Given the description of an element on the screen output the (x, y) to click on. 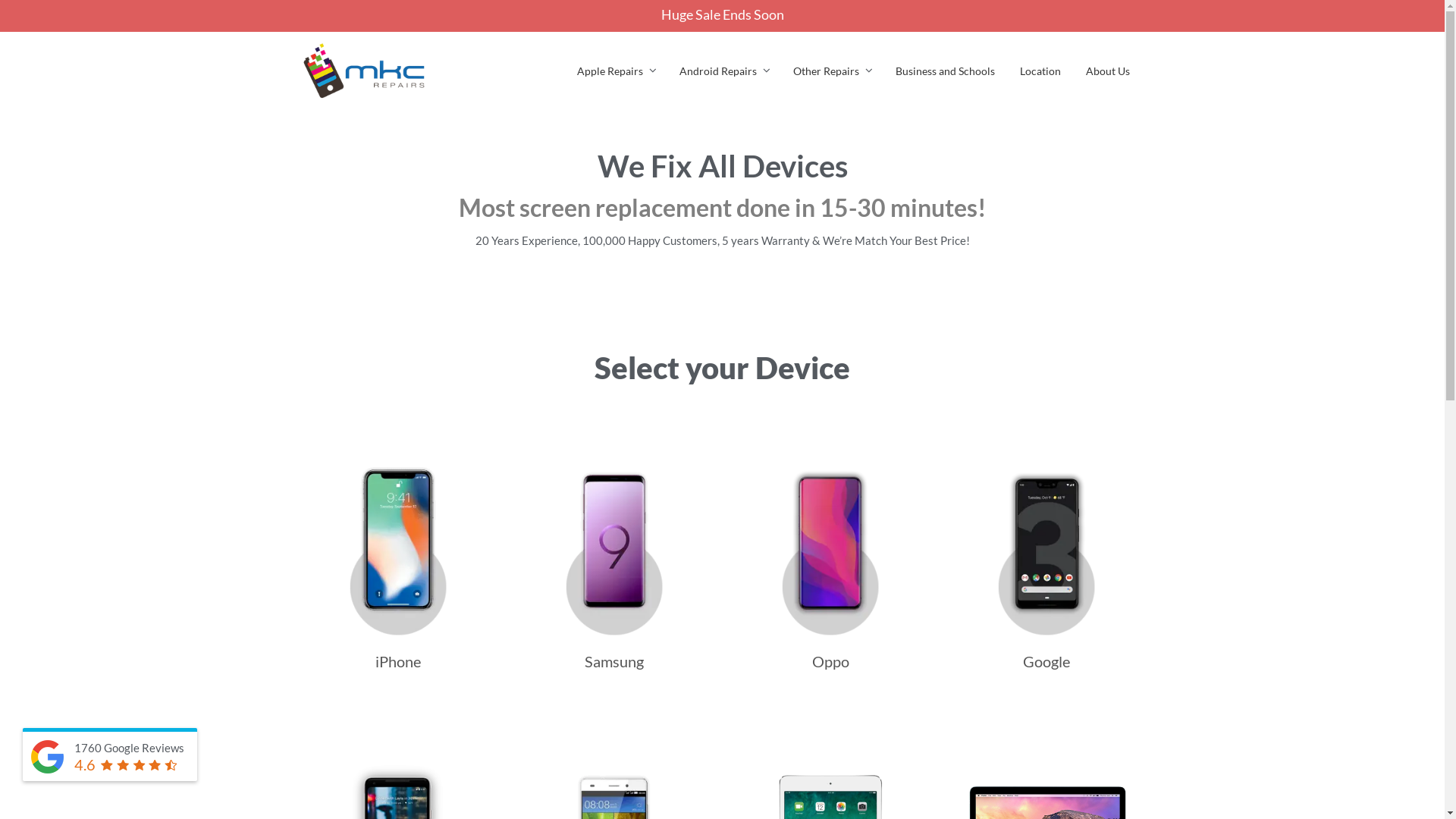
Android Repairs Element type: text (717, 70)
Other Repairs Element type: text (825, 70)
Oppo Element type: text (830, 561)
Samsung Element type: text (613, 561)
iPhone Element type: text (398, 561)
Business and Schools Element type: text (945, 70)
About Us Element type: text (1106, 70)
Location Element type: text (1040, 70)
Google Element type: text (1045, 561)
Apple Repairs Element type: text (609, 70)
